Given the description of an element on the screen output the (x, y) to click on. 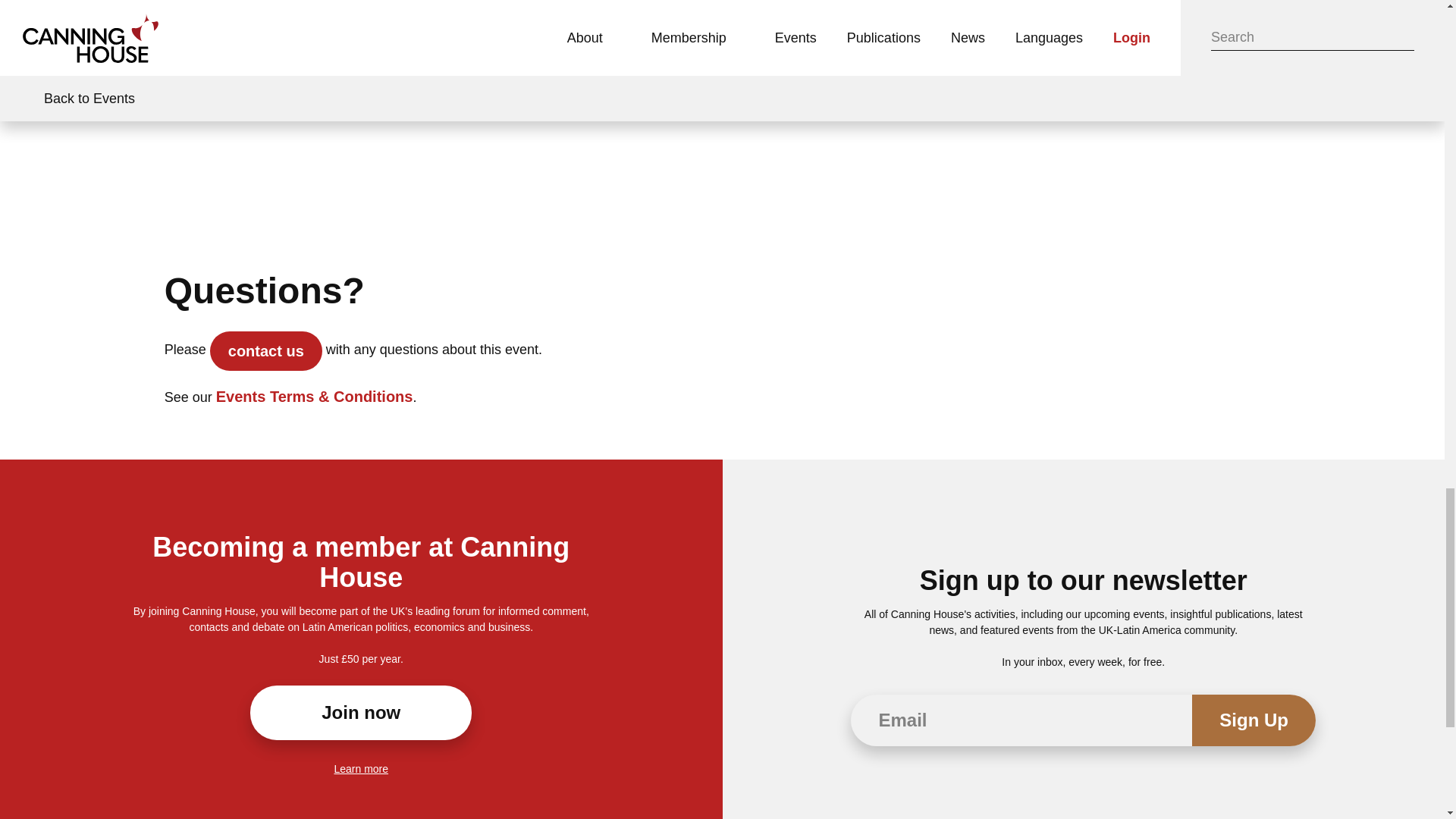
Sign Up (1254, 720)
Join now (360, 712)
contact us (265, 351)
Join now (360, 712)
Learn more (360, 768)
Learn more (360, 768)
